Given the description of an element on the screen output the (x, y) to click on. 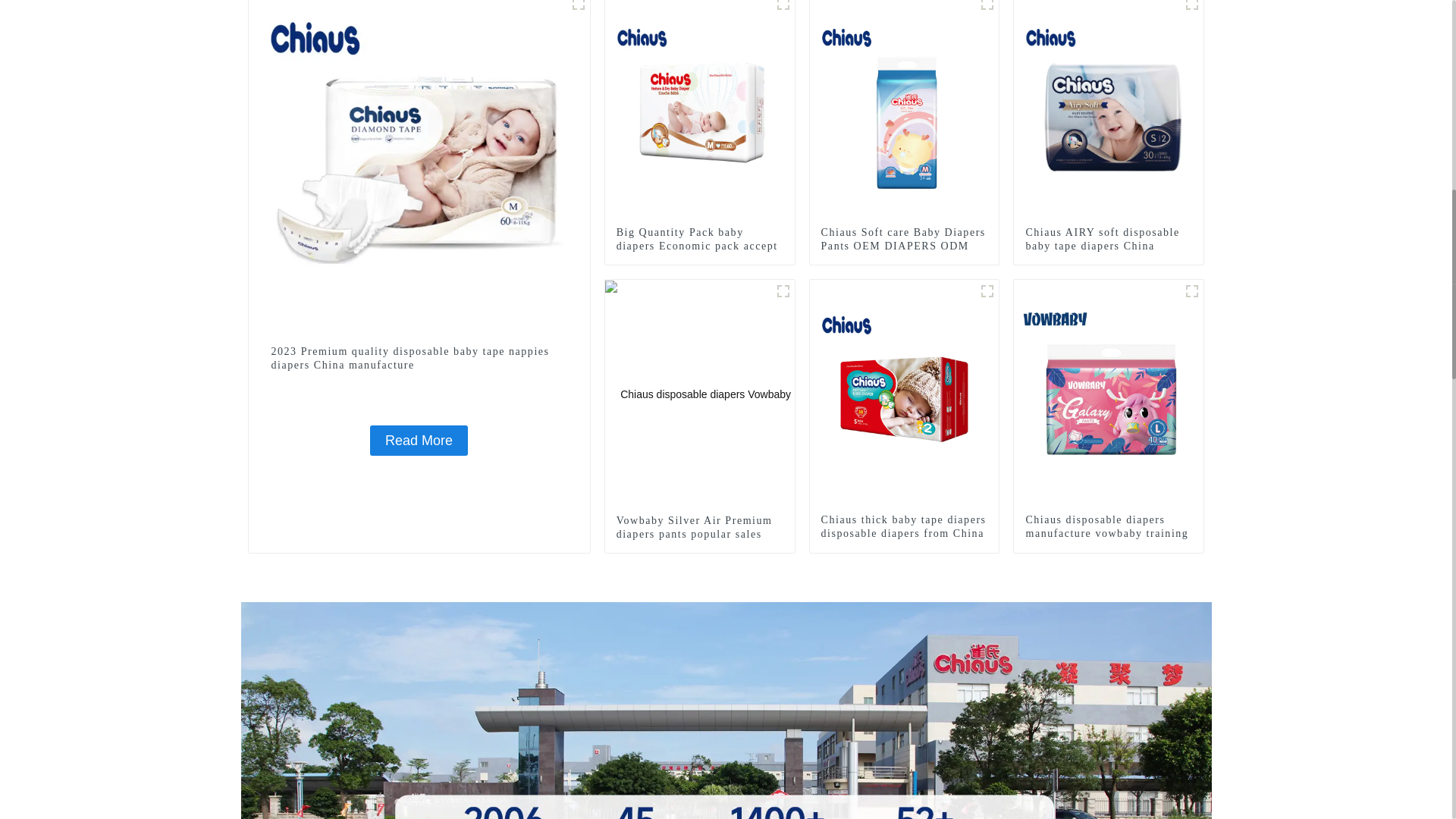
Chiaus Soft care Baby Diapers Pants OEM DIAPERS ODM DIAPERS (904, 246)
Chiaus 2 (986, 7)
Read More (418, 440)
Chiaus Soft care Baby Diapers Pants OEM DIAPERS ODM DIAPERS (904, 246)
